Given the description of an element on the screen output the (x, y) to click on. 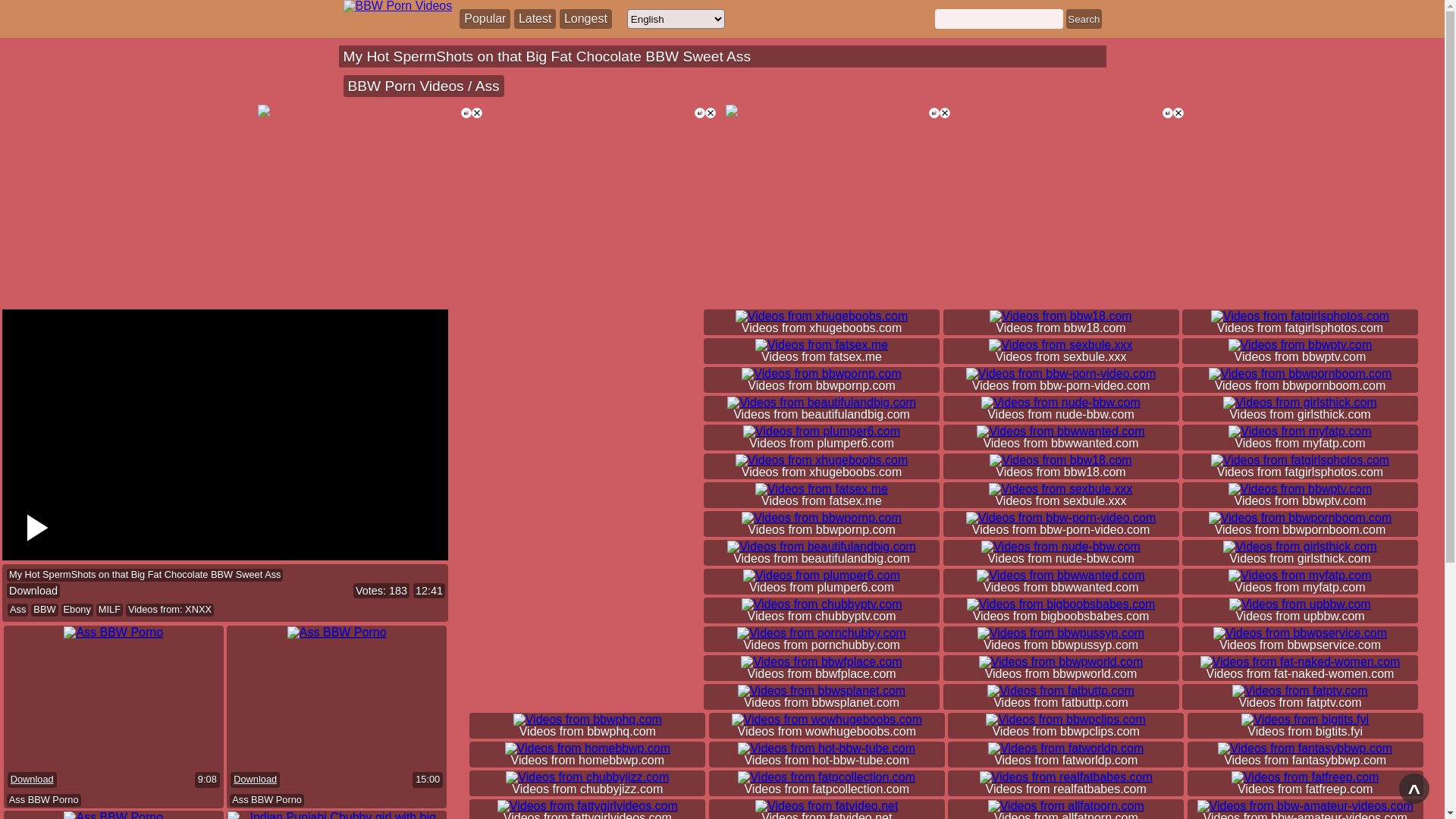
Ass Element type: text (17, 609)
Longest Element type: text (585, 18)
Videos from: XNXX Element type: text (169, 609)
Download Element type: text (33, 590)
Latest Element type: text (535, 18)
^ Element type: text (1414, 788)
BBW Porn Videos Element type: text (407, 86)
Download Element type: text (254, 779)
Popular Element type: text (484, 18)
Play Video Element type: text (34, 527)
Mute Element type: text (52, 543)
Ebony Element type: text (76, 609)
MILF Element type: text (109, 609)
BBW Element type: text (44, 609)
Popular Latest Longest Element type: text (535, 18)
Fullscreen Element type: text (431, 543)
Download Element type: text (31, 779)
Search Element type: text (1083, 18)
Play Element type: text (18, 543)
Ass Element type: text (487, 86)
